Given the description of an element on the screen output the (x, y) to click on. 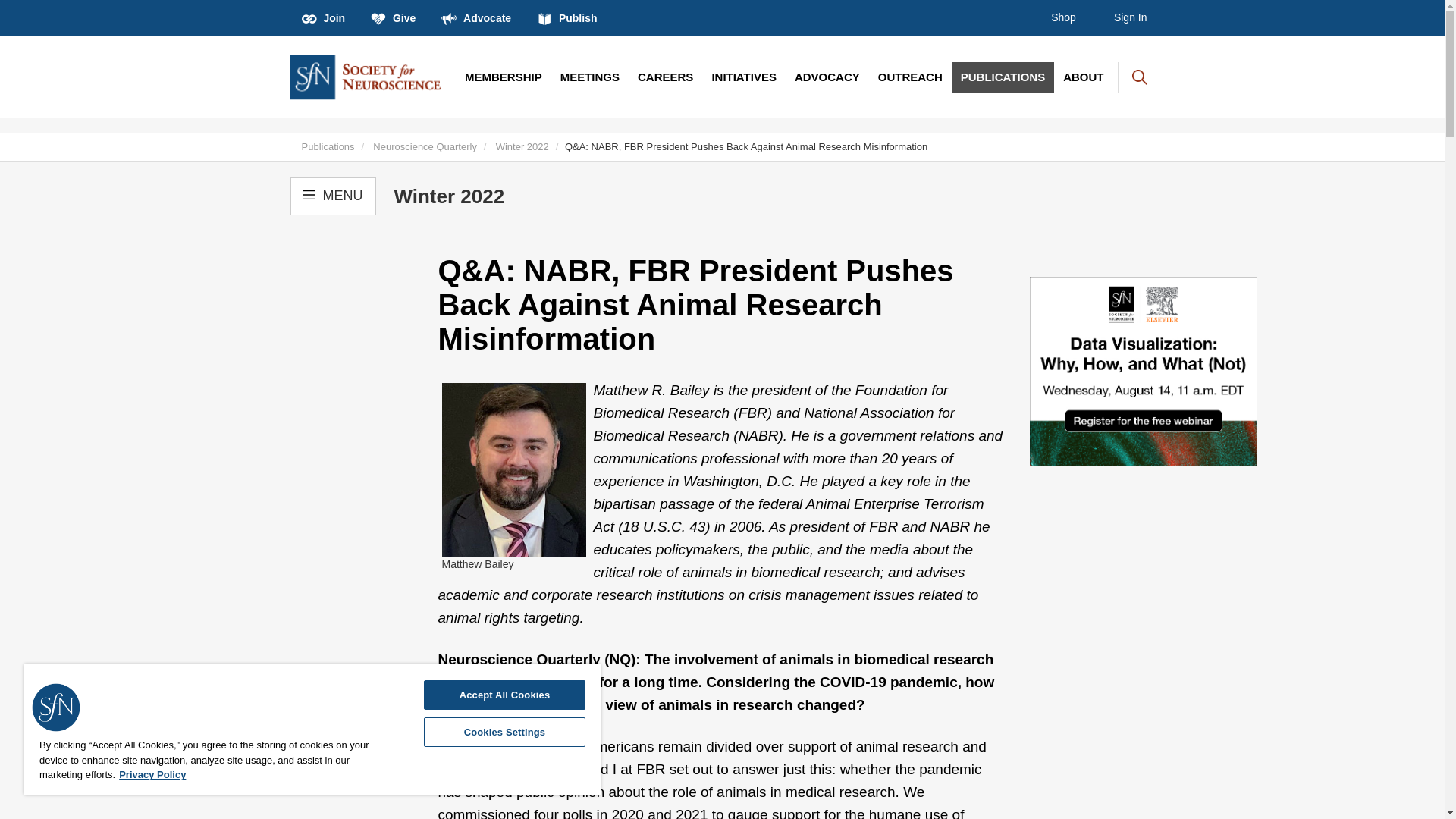
Sign In (1130, 18)
Advocate (475, 18)
Society for Neuroscience Logo (56, 707)
MEETINGS (589, 77)
Publish (566, 18)
MEMBERSHIP (503, 77)
Give (392, 18)
Shop (1063, 18)
Join (322, 18)
